Given the description of an element on the screen output the (x, y) to click on. 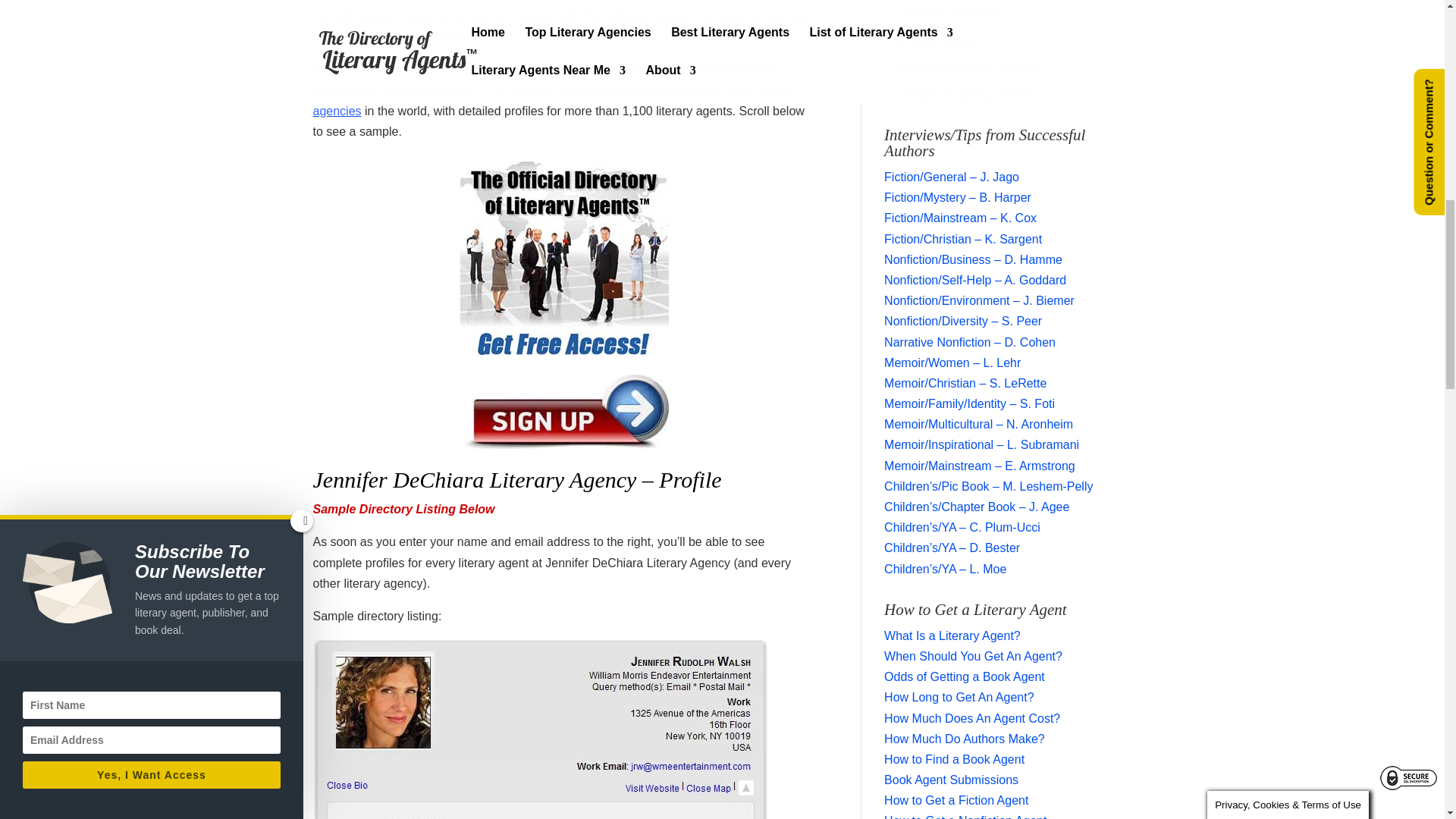
Literary Agencies (553, 100)
Literary Agents New York Directory (540, 728)
